Given the description of an element on the screen output the (x, y) to click on. 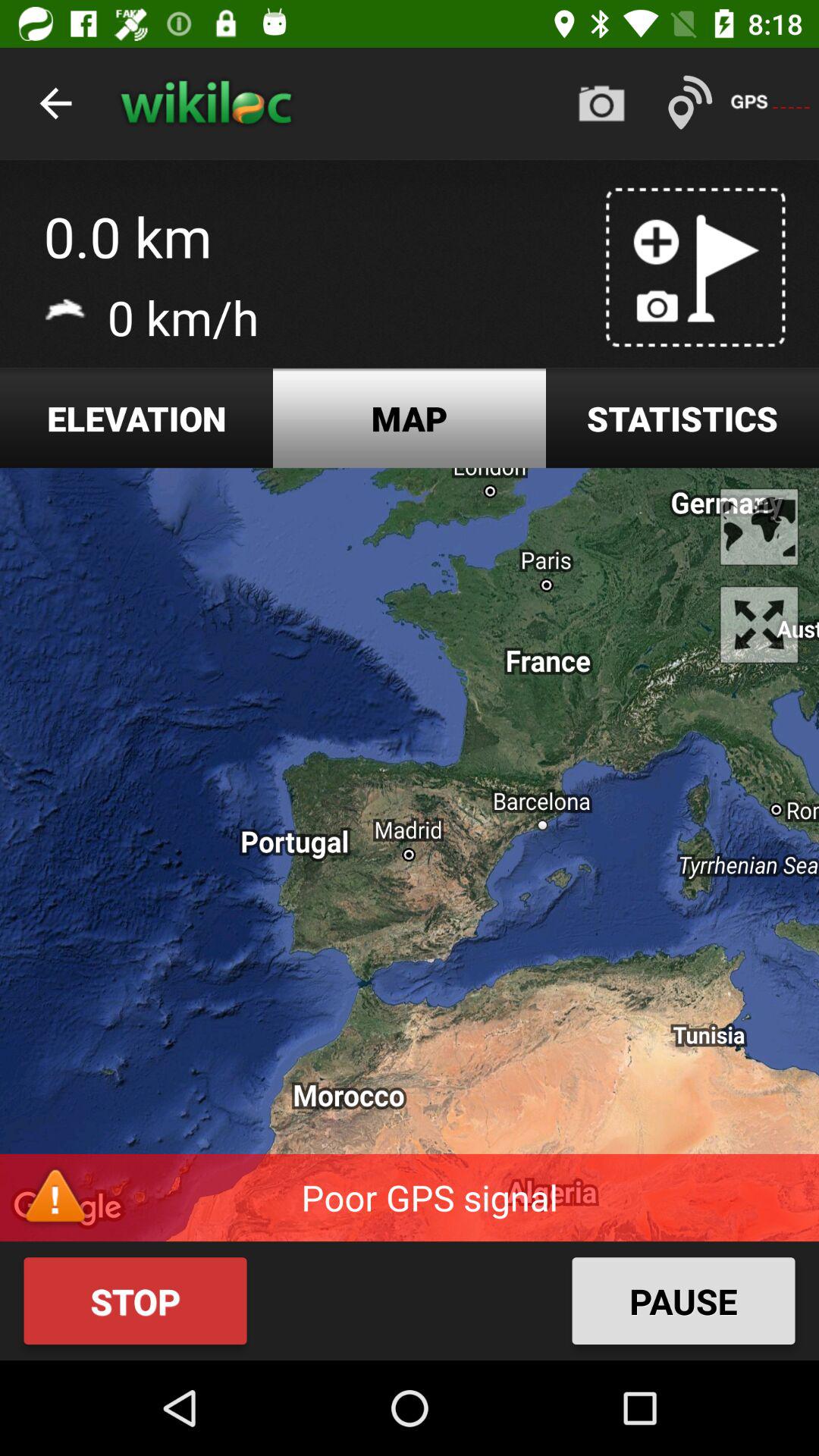
turn on the stop icon (134, 1300)
